Given the description of an element on the screen output the (x, y) to click on. 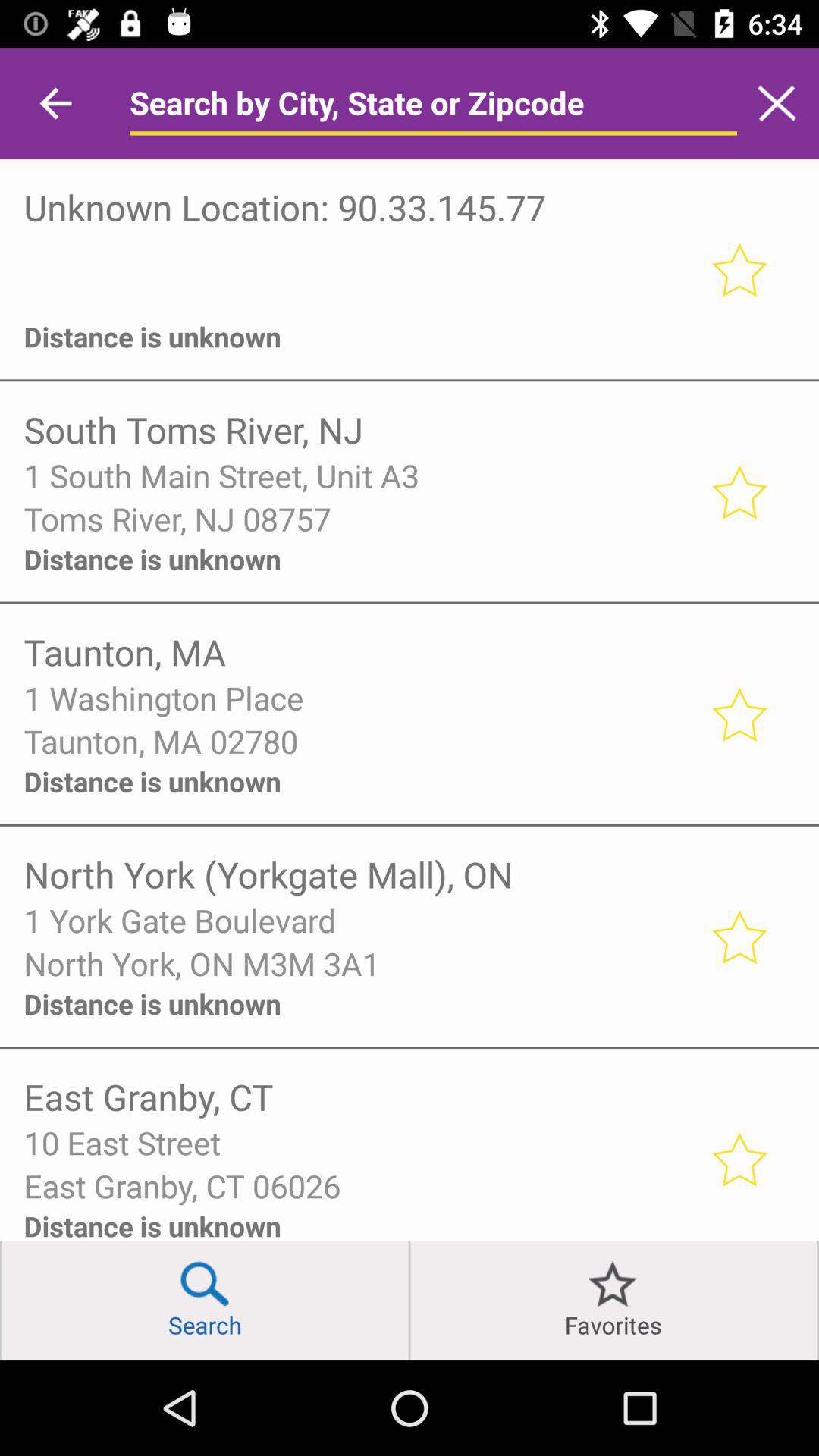
add this location to favorites (738, 713)
